Given the description of an element on the screen output the (x, y) to click on. 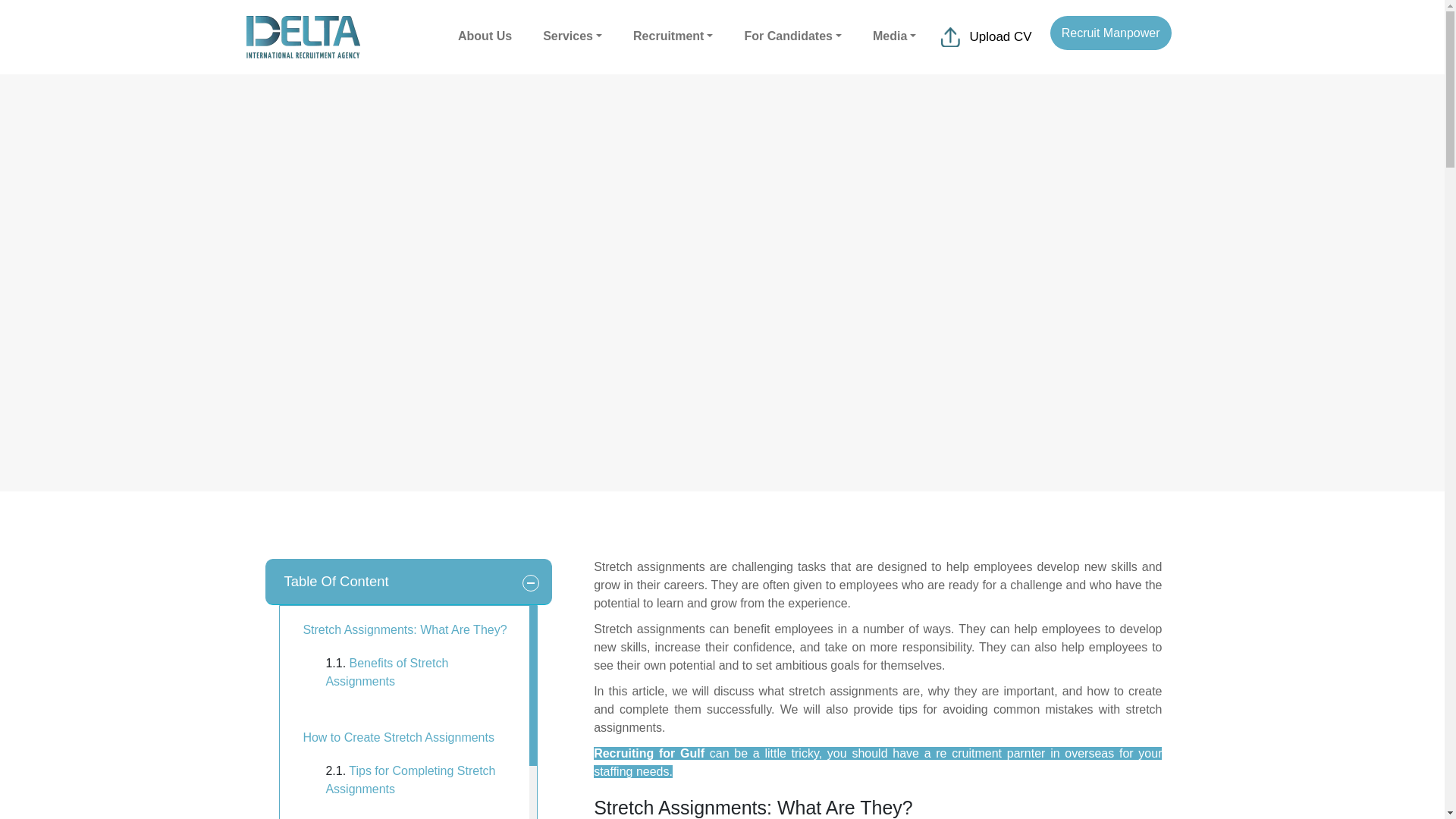
Services (572, 36)
Recruitment (673, 36)
About Us (484, 36)
